Given the description of an element on the screen output the (x, y) to click on. 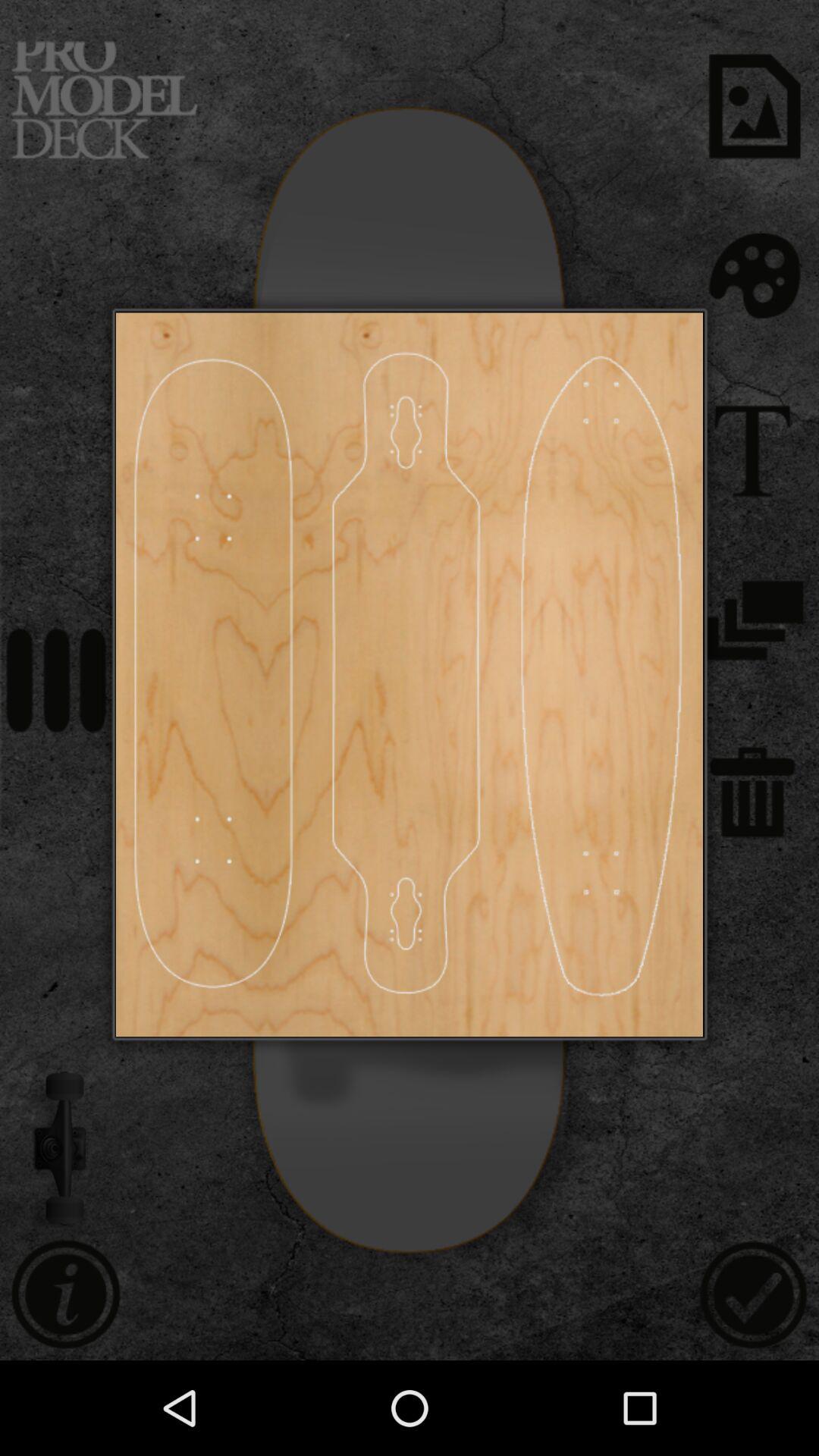
choose layout (600, 674)
